Given the description of an element on the screen output the (x, y) to click on. 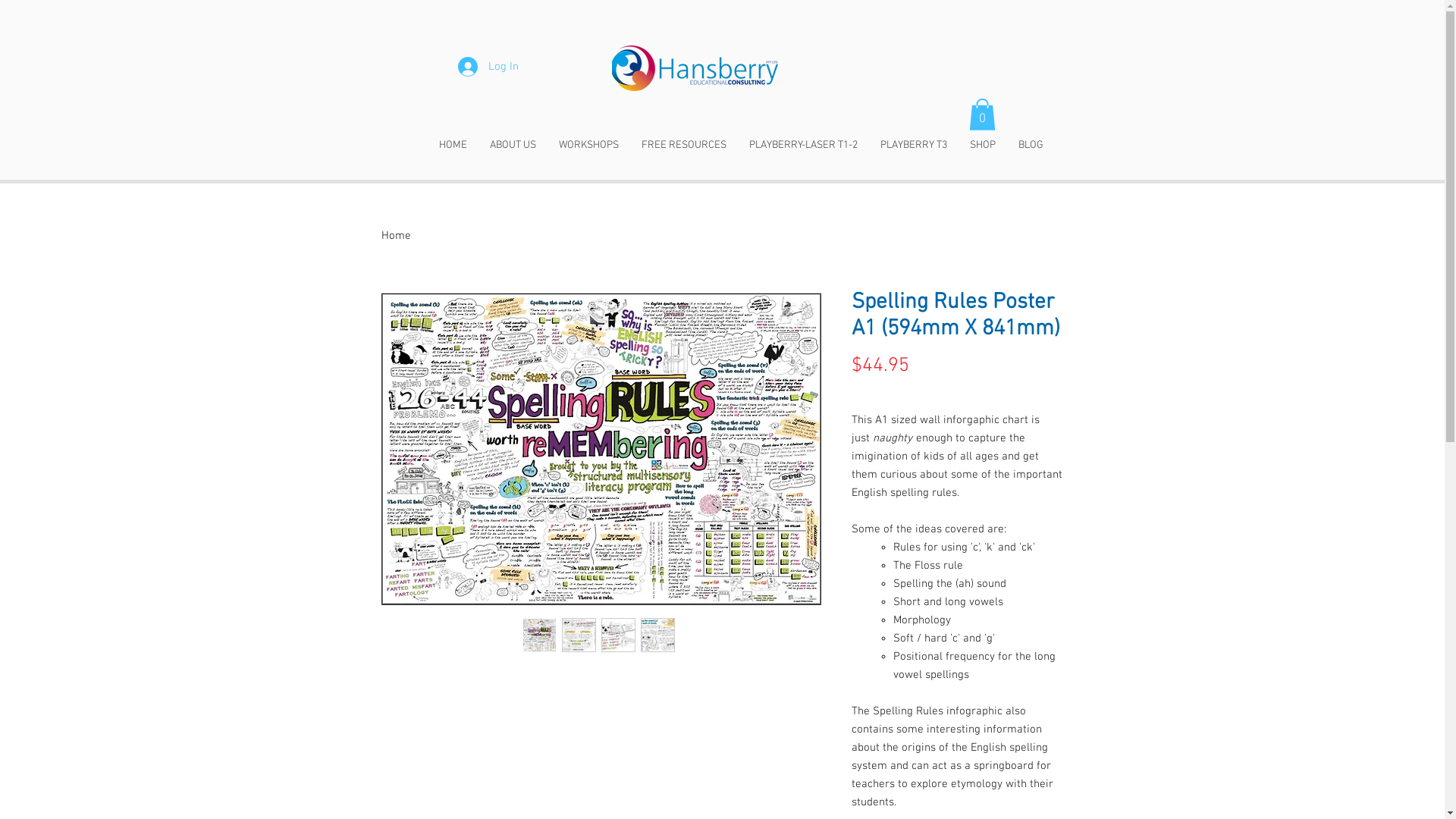
PLAYBERRY T3 Element type: text (913, 145)
Twitter Follow Element type: hover (1046, 94)
WORKSHOPS Element type: text (588, 145)
HOME Element type: text (452, 145)
ABOUT US Element type: text (511, 145)
PLAYBERRY-LASER T1-2 Element type: text (802, 145)
FREE RESOURCES Element type: text (683, 145)
0 Element type: text (982, 114)
Home Element type: text (395, 235)
BLOG Element type: text (1030, 145)
Log In Element type: text (488, 66)
SHOP Element type: text (982, 145)
